Given the description of an element on the screen output the (x, y) to click on. 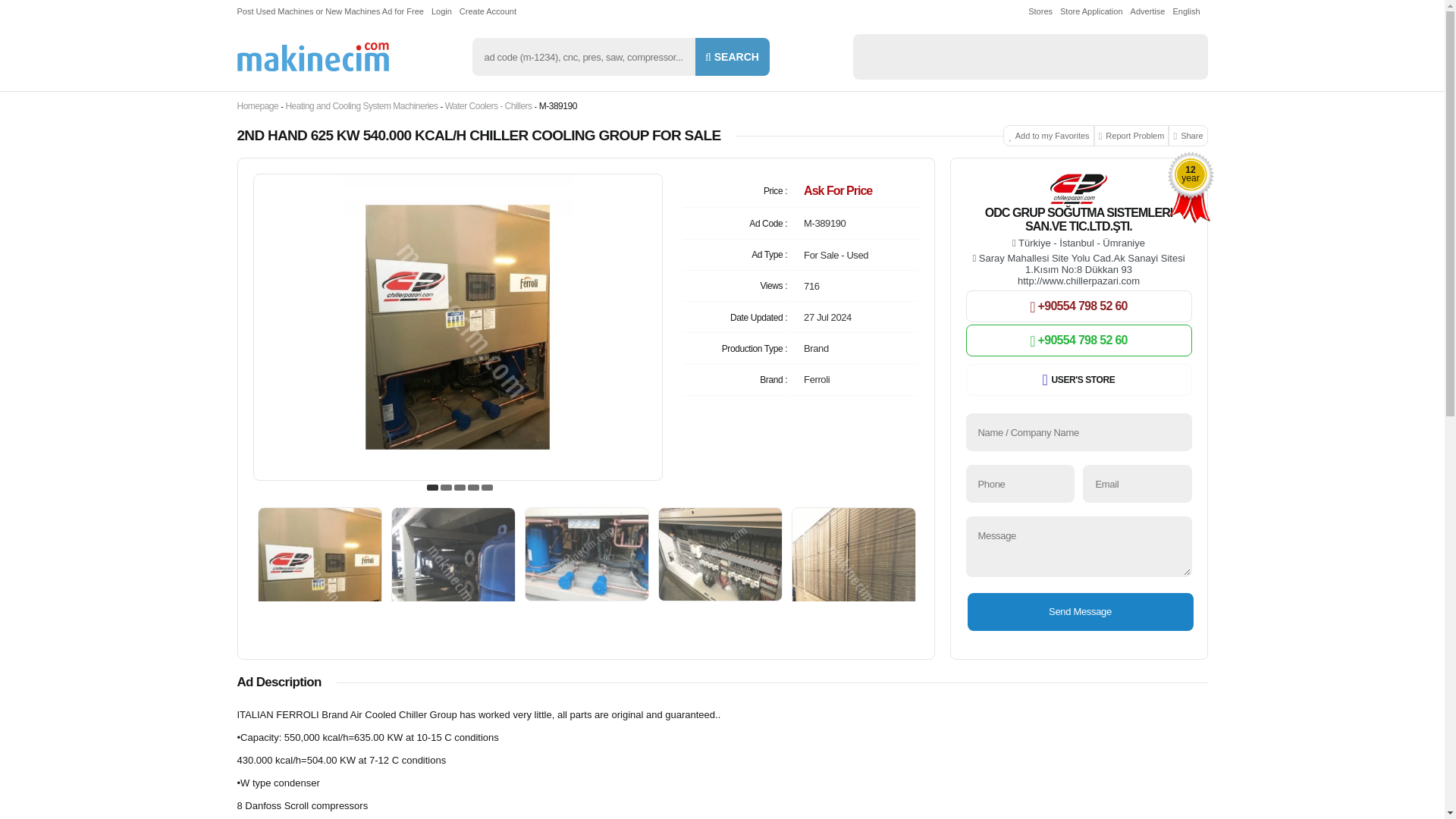
Advertise (1152, 10)
Post Used Machines or New Machines Ad for Free (329, 11)
Post Used Machines or New Machines Ad for Free (332, 10)
Stores (1043, 10)
3 (458, 488)
5 (486, 488)
Advertise (1152, 10)
Homepage (256, 105)
Add to my Favorites (1048, 135)
Create Account (492, 10)
Share (1188, 135)
Stores (1043, 10)
Store Application (1095, 10)
Makinecim.com (311, 56)
Login (445, 10)
